Given the description of an element on the screen output the (x, y) to click on. 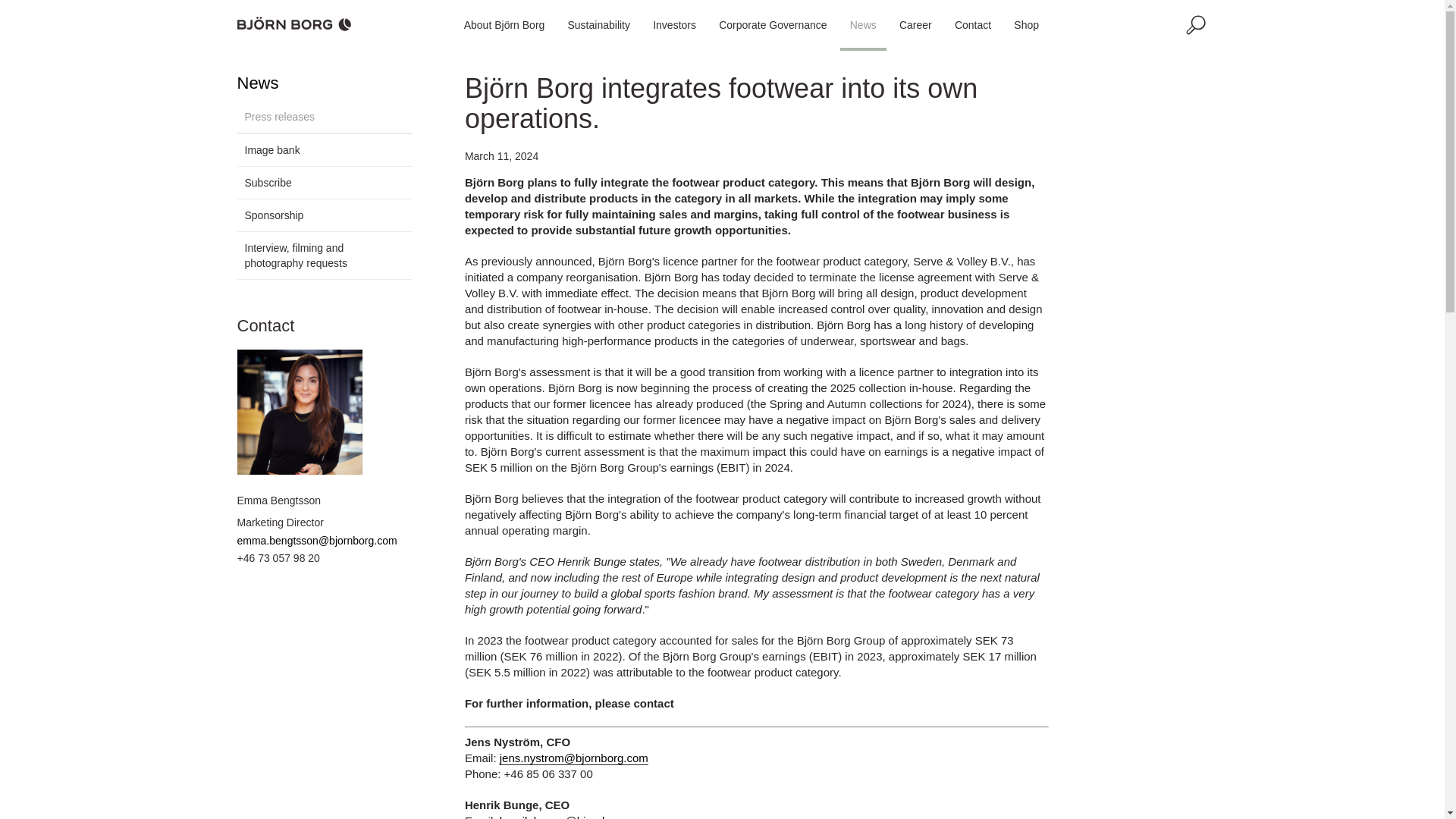
Sustainability (598, 23)
News (863, 23)
Career (915, 23)
Shop (1026, 23)
Contact (972, 23)
Investors (674, 23)
Corporate Governance (772, 23)
